Given the description of an element on the screen output the (x, y) to click on. 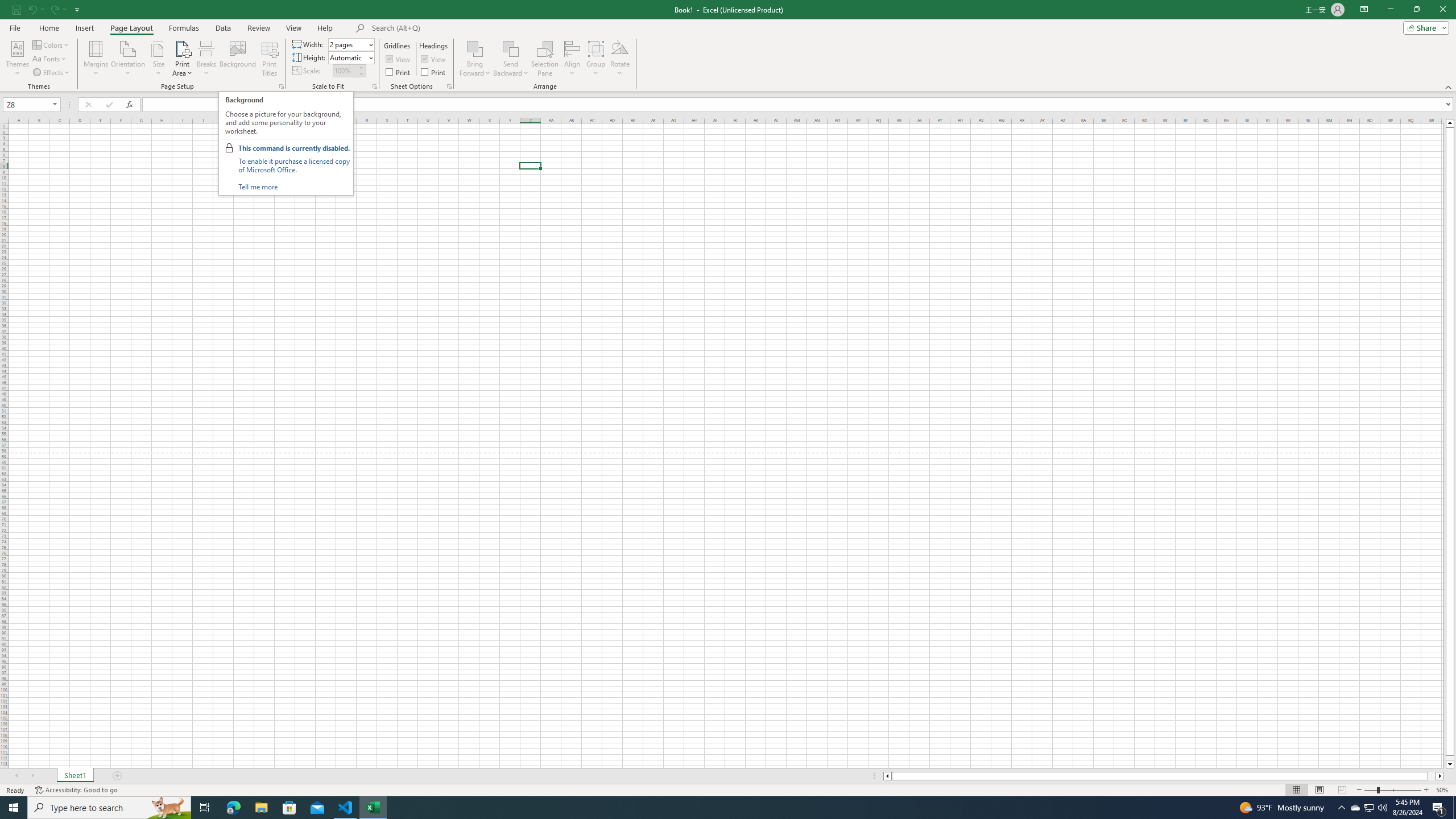
Height (347, 57)
Bring Forward (475, 58)
Page Setup (374, 85)
